Given the description of an element on the screen output the (x, y) to click on. 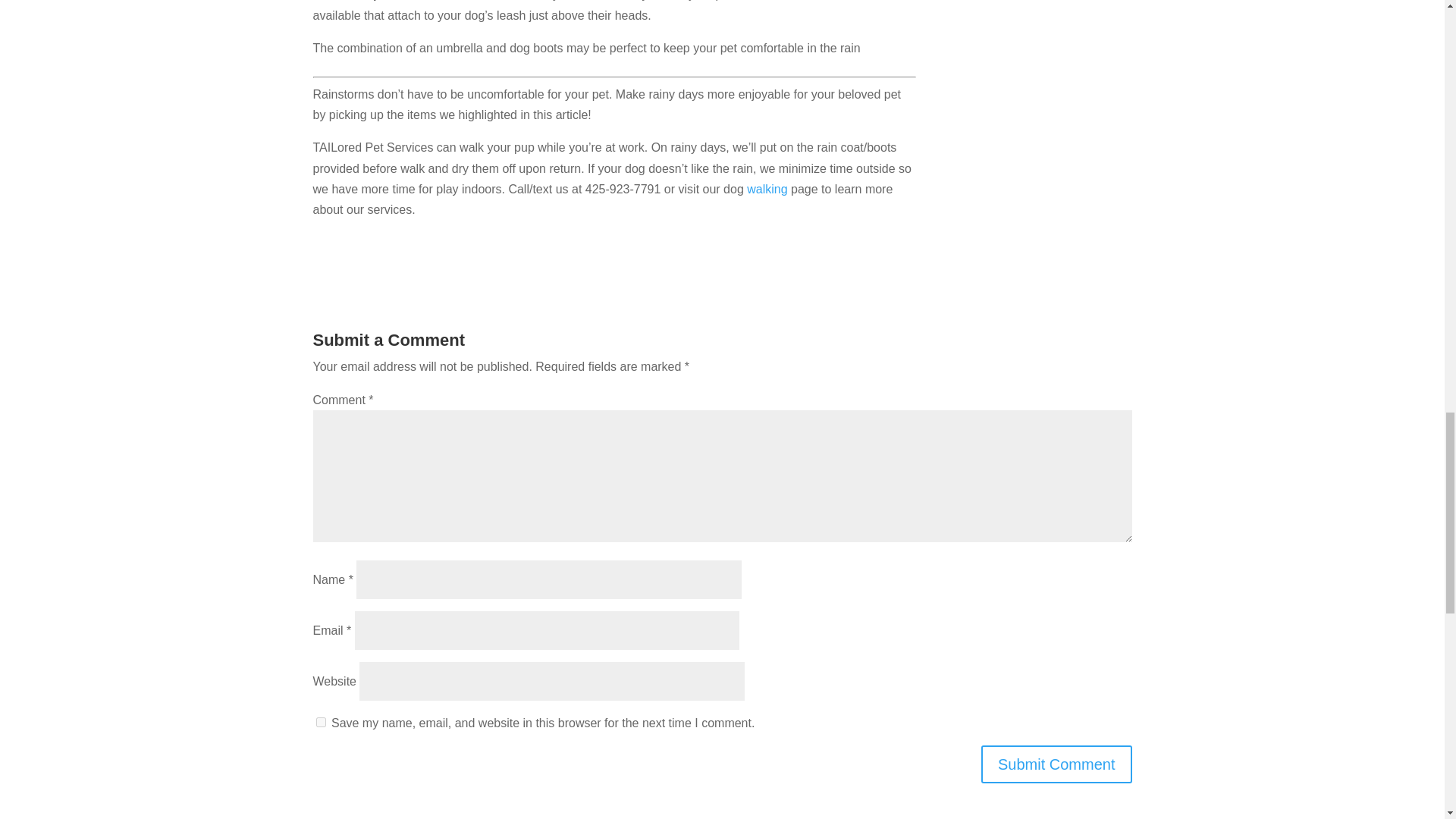
Submit Comment (1056, 763)
yes (319, 722)
walking (766, 188)
